Given the description of an element on the screen output the (x, y) to click on. 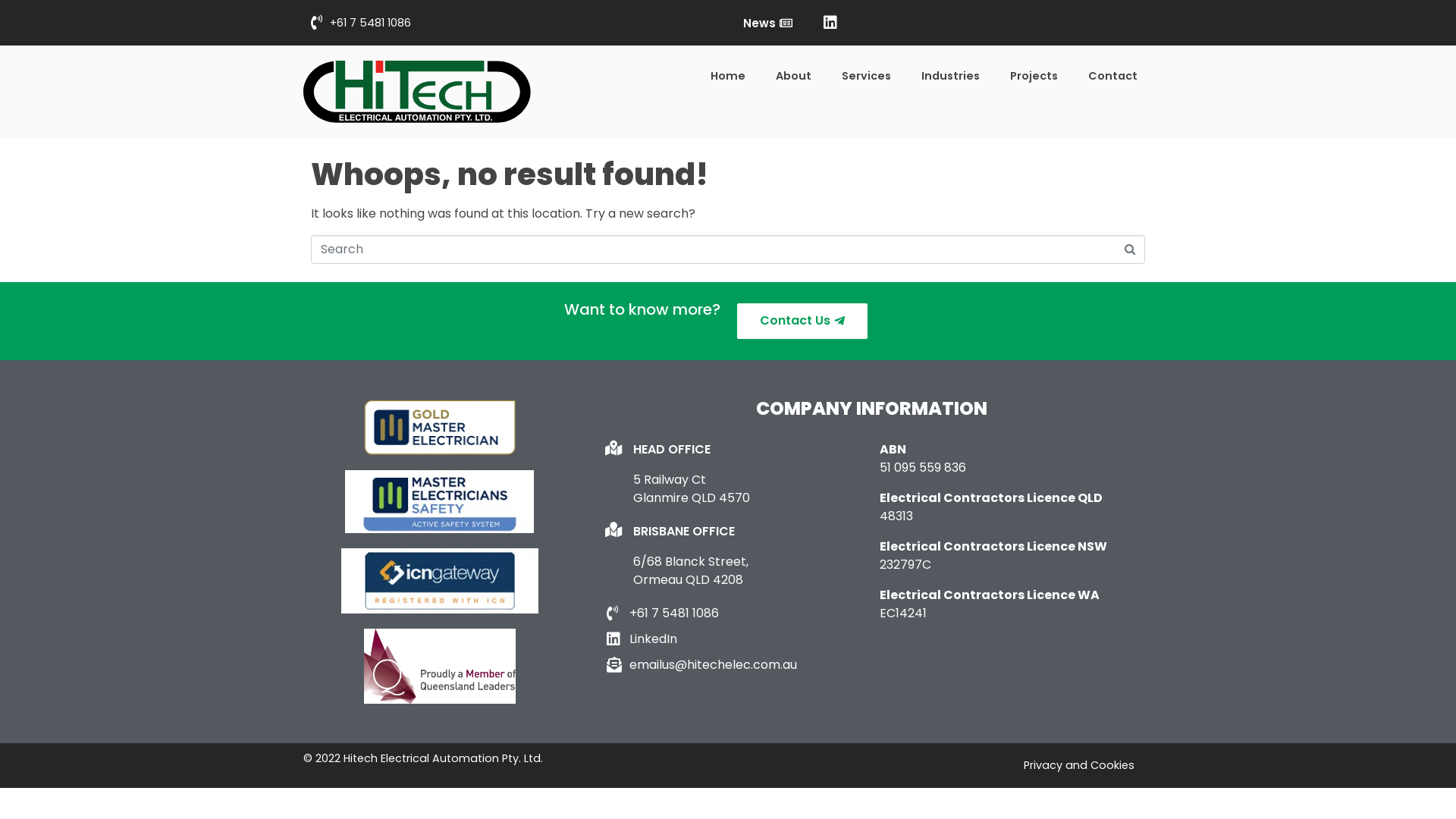
HEAD OFFICE Element type: text (671, 449)
Home Element type: text (727, 76)
BRISBANE OFFICE Element type: text (683, 530)
+61 7 5481 1086 Element type: text (360, 22)
News Element type: text (767, 22)
Services Element type: text (866, 76)
Contact Us Element type: text (802, 320)
Contact Element type: text (1112, 76)
Privacy and Cookies Element type: text (1078, 764)
Projects Element type: text (1033, 76)
Industries Element type: text (950, 76)
+61 7 5481 1086 Element type: text (735, 613)
LinkedIn Element type: text (735, 639)
emailus@hitechelec.com.au Element type: text (735, 664)
Hitech Electrical Automation Pty. Ltd. Element type: text (442, 757)
About Element type: text (793, 76)
